Given the description of an element on the screen output the (x, y) to click on. 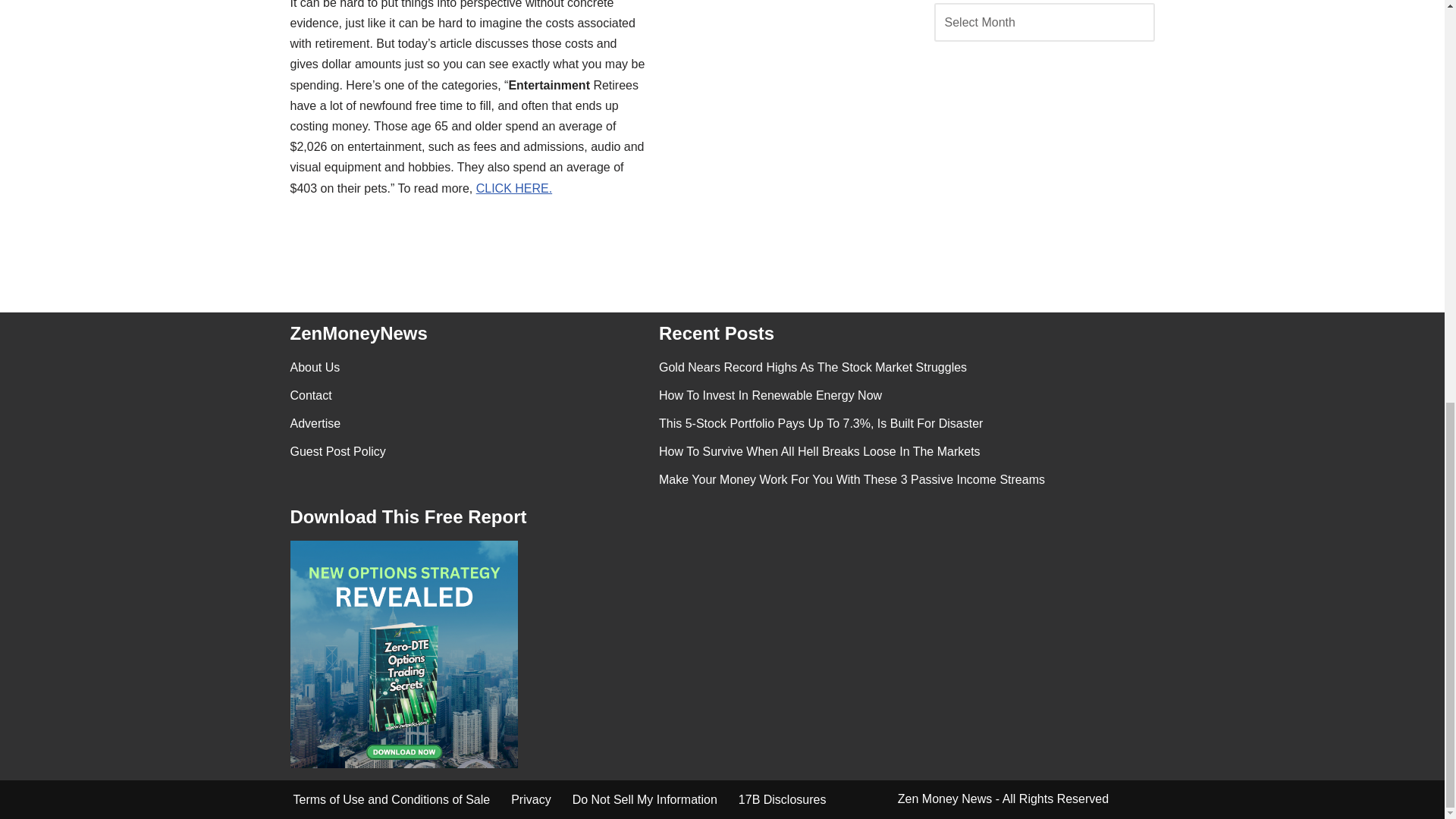
Download This Free Report (402, 654)
Contact (310, 395)
Guest Post Policy (337, 451)
17B Disclosures (782, 799)
CLICK HERE. (513, 187)
How To Survive When All Hell Breaks Loose In The Markets (819, 451)
Do Not Sell My Information (644, 799)
How To Invest In Renewable Energy Now (770, 395)
Gold Nears Record Highs As The Stock Market Struggles (812, 367)
